Given the description of an element on the screen output the (x, y) to click on. 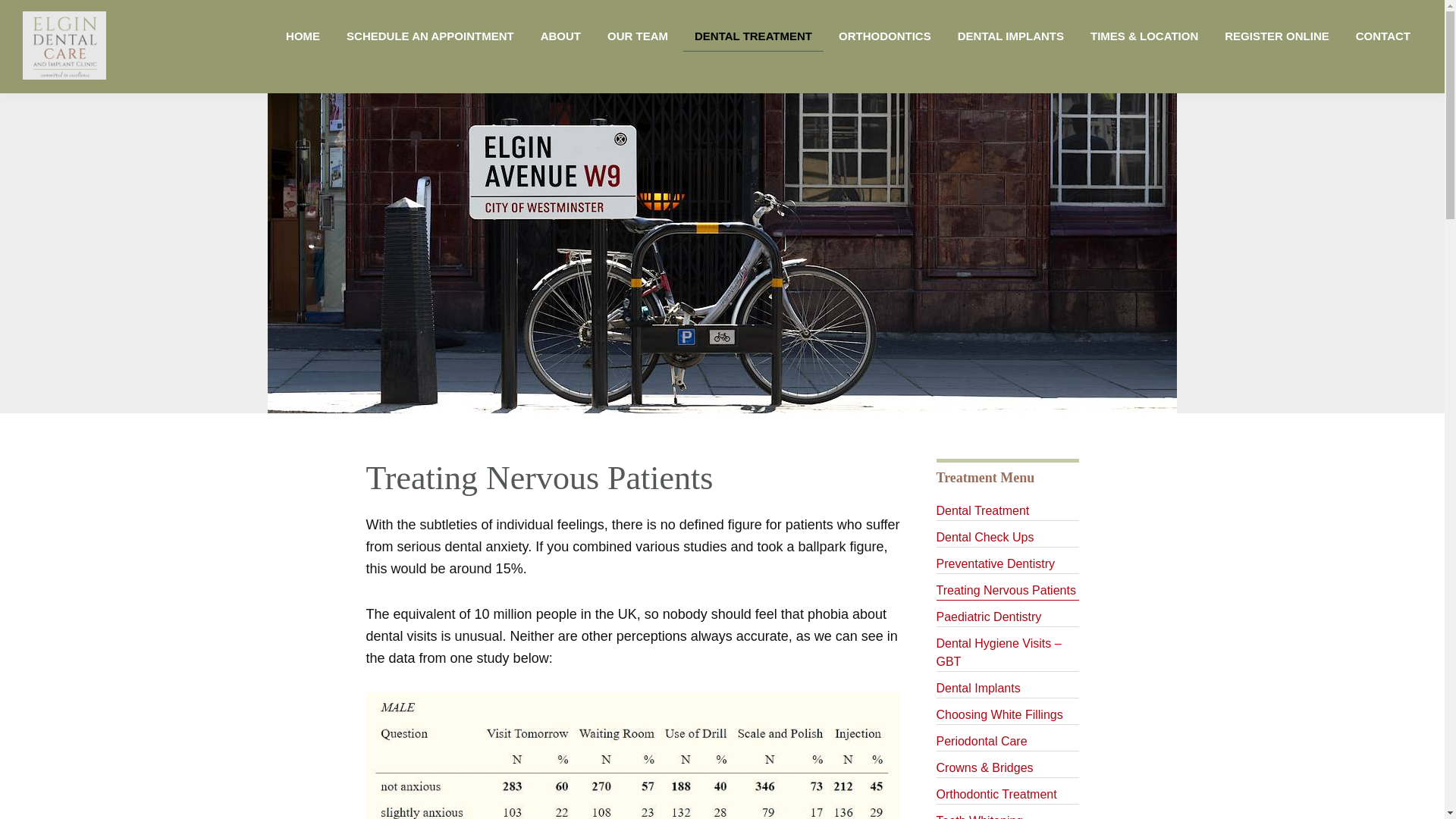
REGISTER ONLINE (1276, 35)
Preventative Dentistry (1007, 564)
DENTAL IMPLANTS (1010, 35)
DENTAL TREATMENT (753, 36)
OUR TEAM (637, 35)
SCHEDULE AN APPOINTMENT (429, 35)
HOME (303, 35)
Treating Nervous Patients (1007, 590)
Dental Implants (1007, 688)
Orthodontic Treatment (1007, 794)
Choosing White Fillings (1007, 714)
ABOUT (560, 35)
ORTHODONTICS (884, 35)
Dental Check Ups (1007, 537)
Dental Treatment (1007, 511)
